Given the description of an element on the screen output the (x, y) to click on. 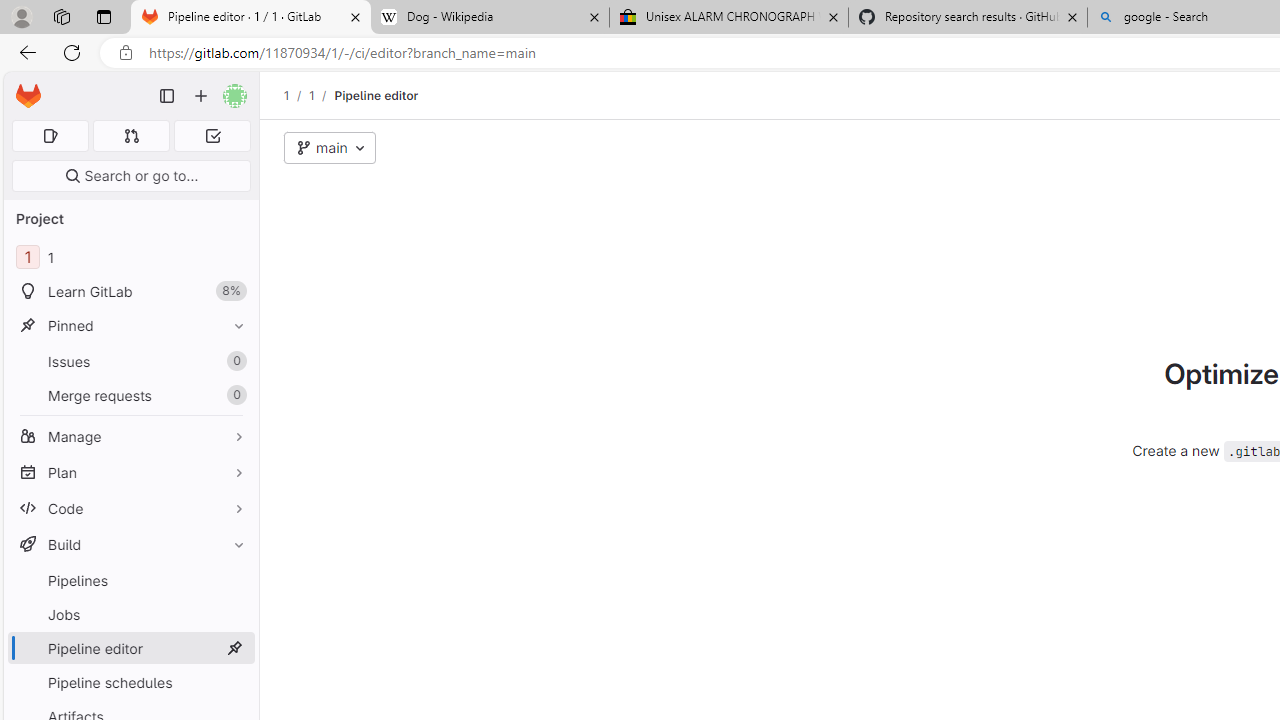
Homepage (27, 96)
Pipeline schedules (130, 682)
Skip to main content (23, 87)
Code (130, 507)
Merge requests 0 (130, 394)
1 1 (130, 257)
Pipelines (130, 579)
Assigned issues 0 (50, 136)
1 (311, 95)
Learn GitLab 8% (130, 291)
Pipelines (130, 579)
Build (130, 543)
